Given the description of an element on the screen output the (x, y) to click on. 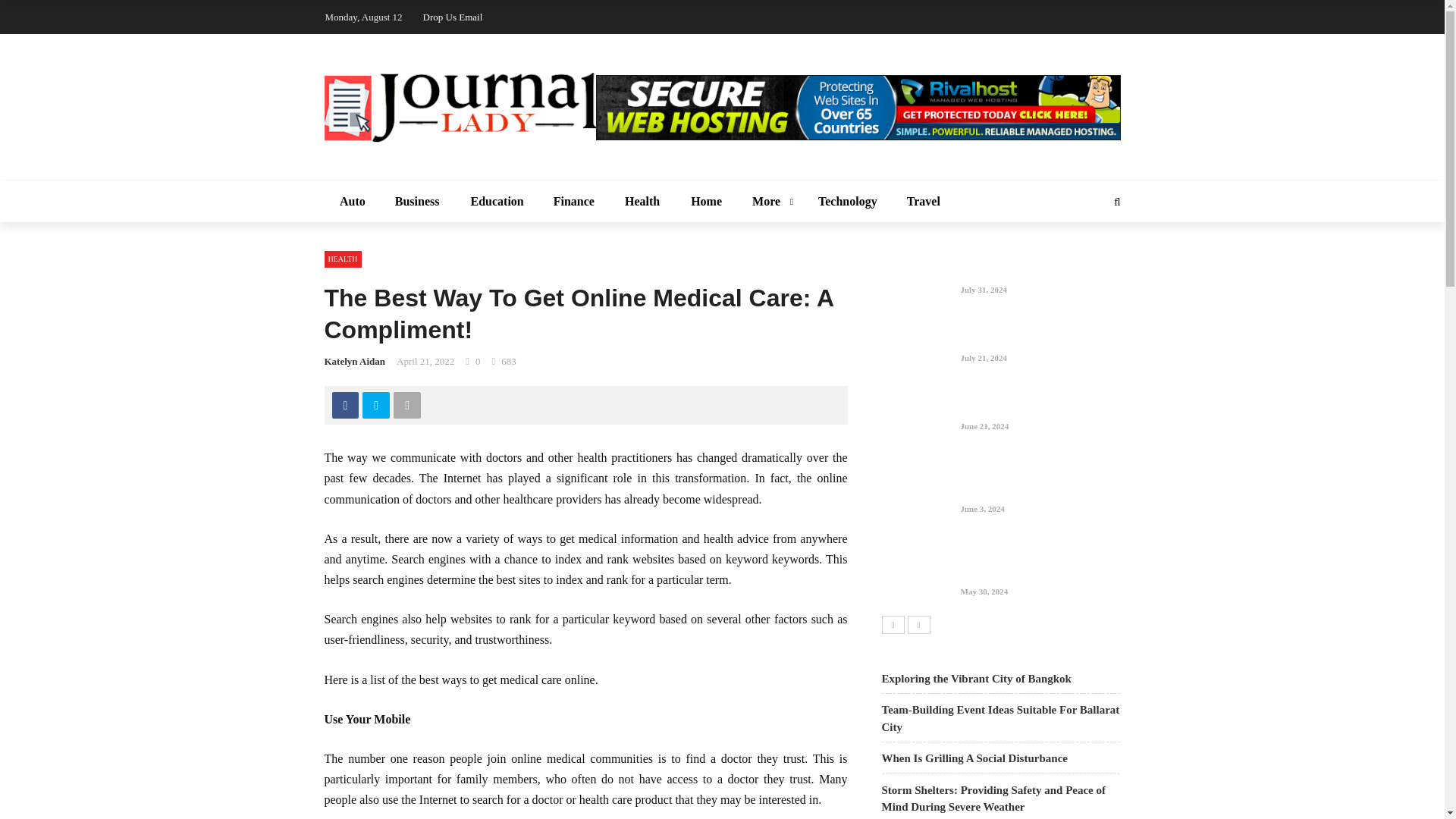
Education (496, 200)
Technology (847, 200)
Travel (923, 200)
Home (705, 200)
Auto (352, 200)
HEALTH (342, 258)
Katelyn Aidan (354, 360)
Health (642, 200)
Finance (574, 200)
Business (417, 200)
